Given the description of an element on the screen output the (x, y) to click on. 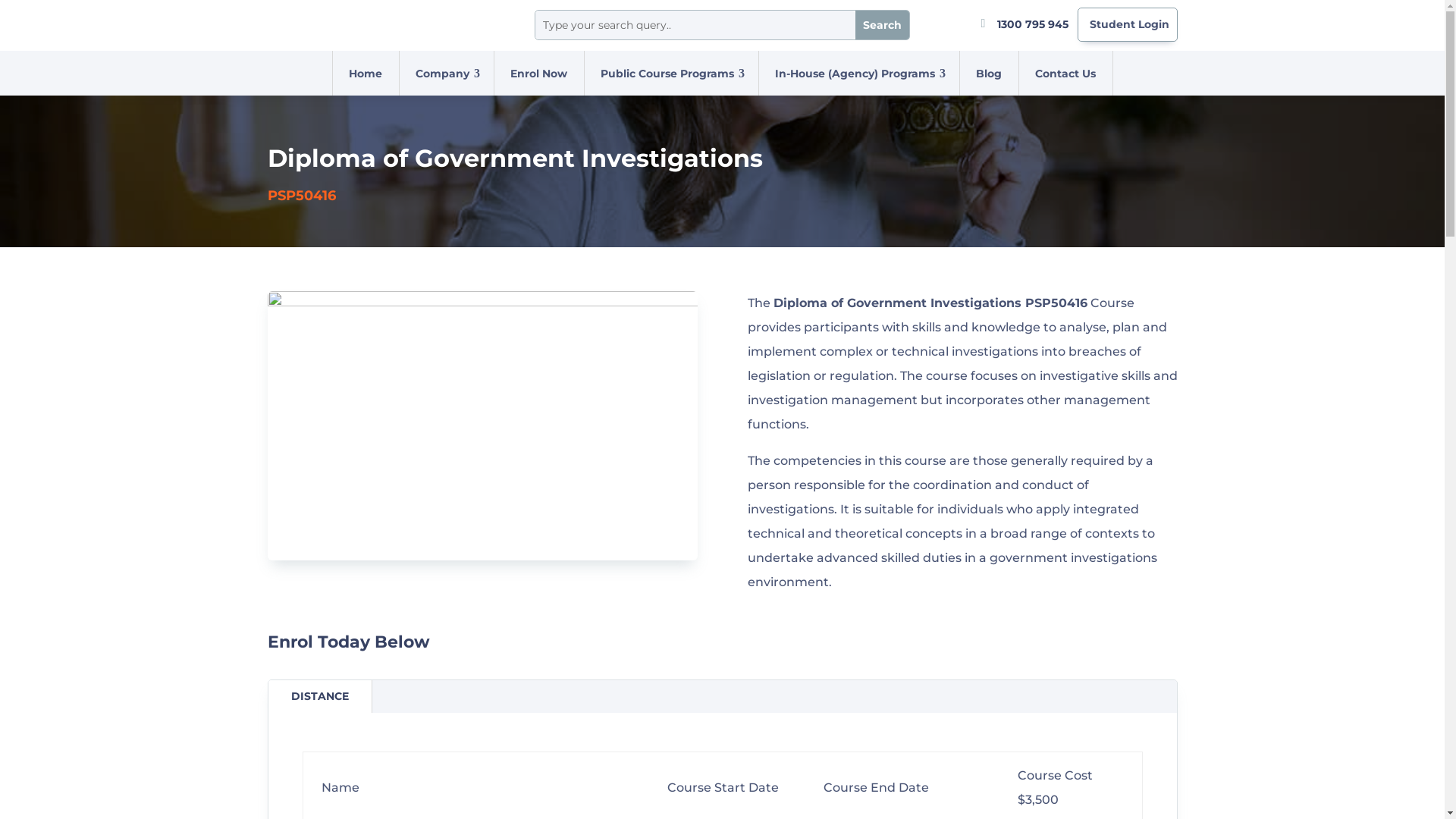
Public Course Programs Element type: text (667, 72)
Enrol Now Element type: text (538, 72)
Home Element type: text (365, 72)
Blog Element type: text (988, 72)
PSP50416_Diploma_ICETS Element type: hover (481, 425)
Search Element type: text (882, 24)
In-House (Agency) Programs Element type: text (855, 72)
Contact Us Element type: text (1064, 72)
1300 795 945 Element type: text (1031, 23)
Company Element type: text (442, 72)
DISTANCE Element type: text (319, 696)
Student Login Element type: text (1128, 24)
